Given the description of an element on the screen output the (x, y) to click on. 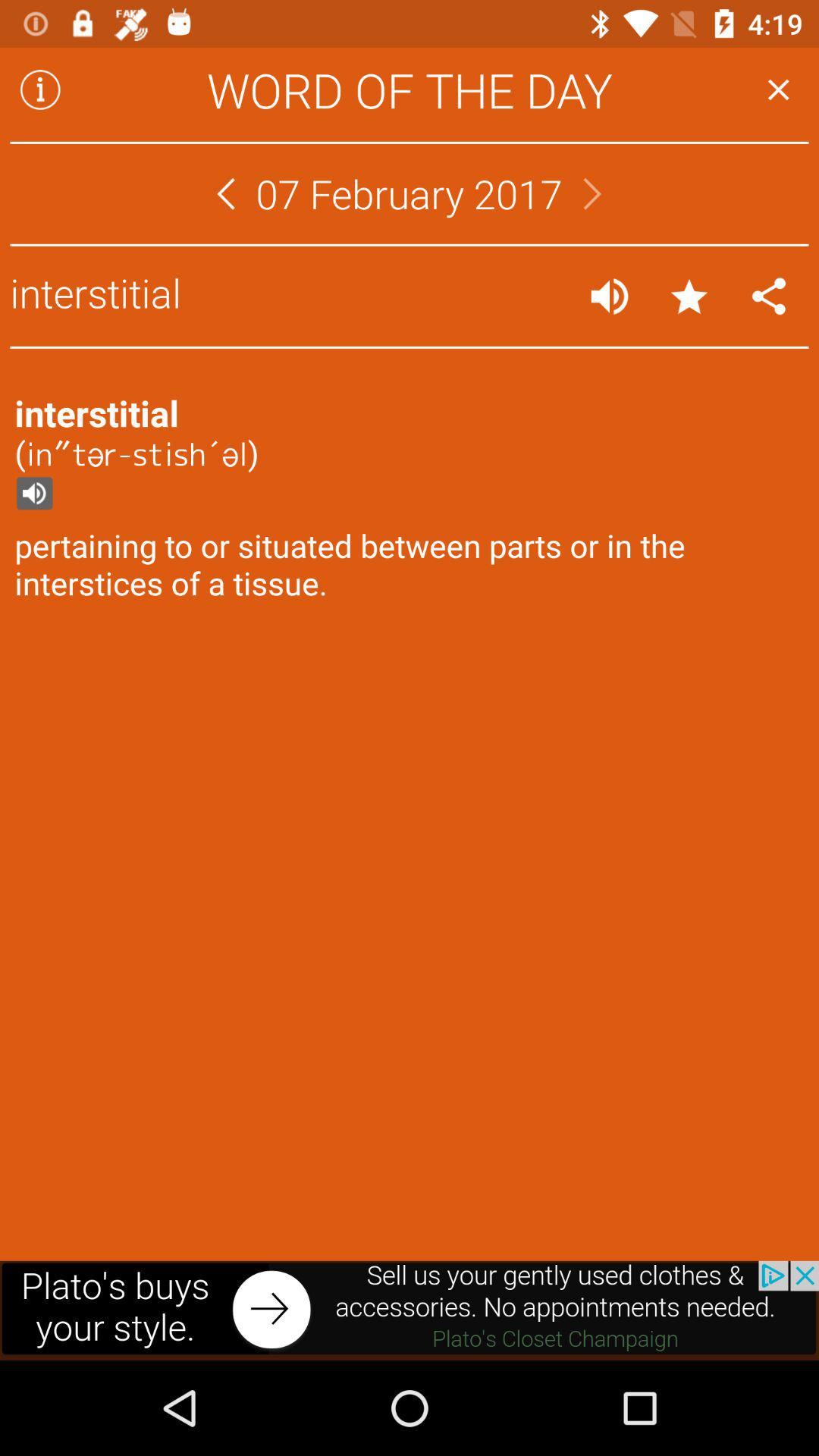
add to favourites (689, 296)
